Given the description of an element on the screen output the (x, y) to click on. 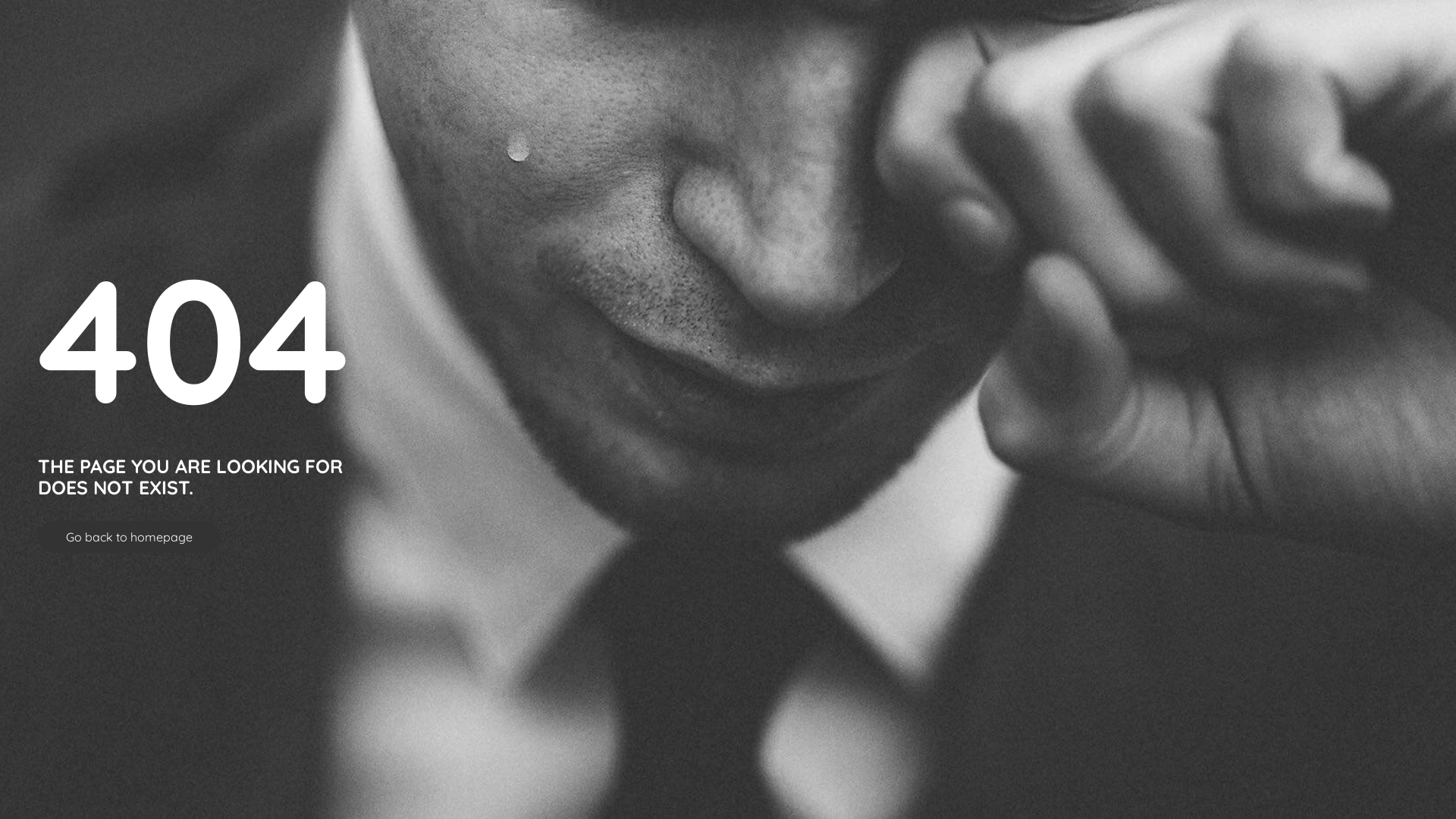
Go back to homepage Element type: text (128, 536)
